Given the description of an element on the screen output the (x, y) to click on. 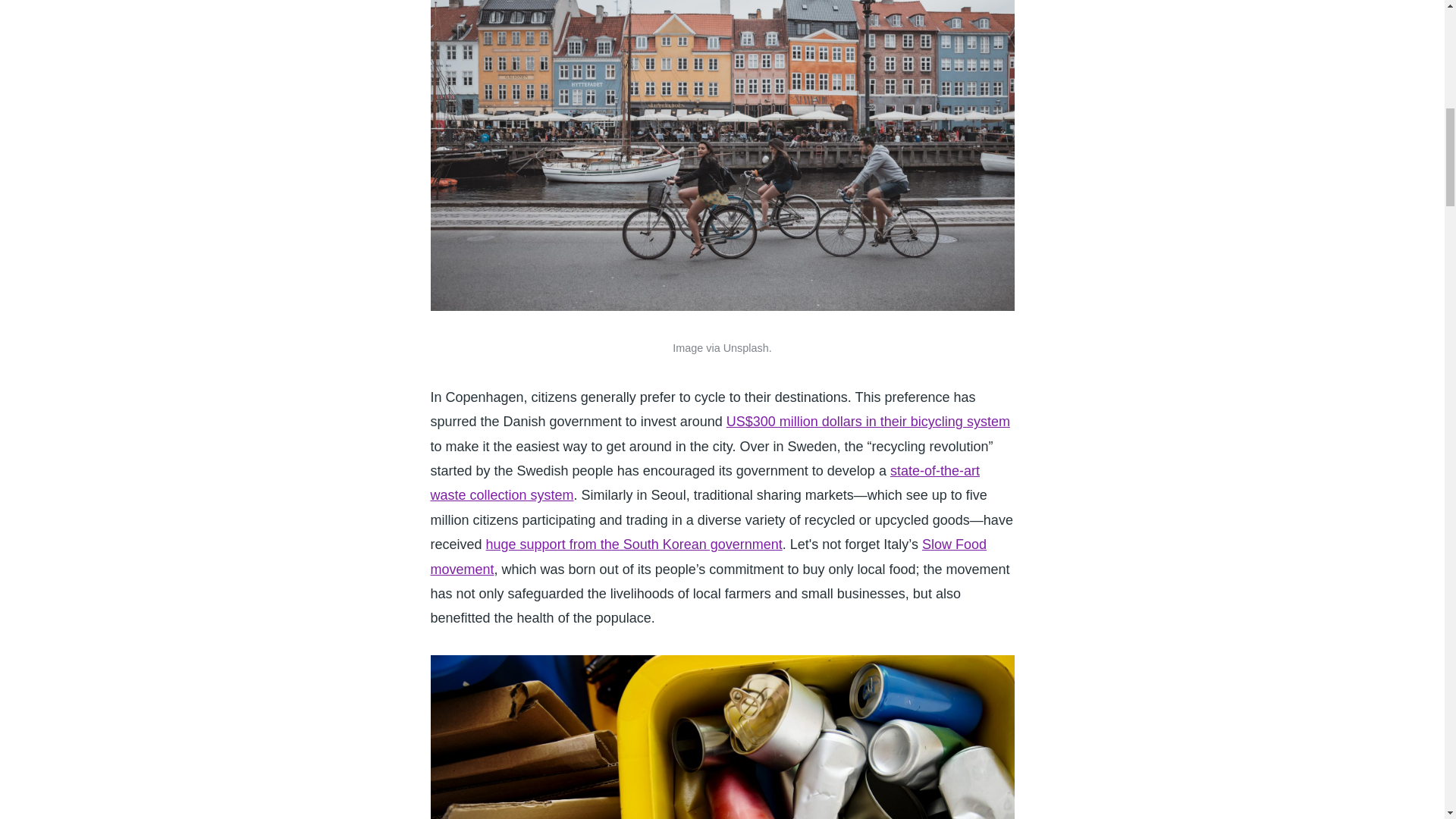
state-of-the-art waste collection system (704, 482)
huge support from the South Korean government (634, 544)
Slow Food movement (708, 556)
